Given the description of an element on the screen output the (x, y) to click on. 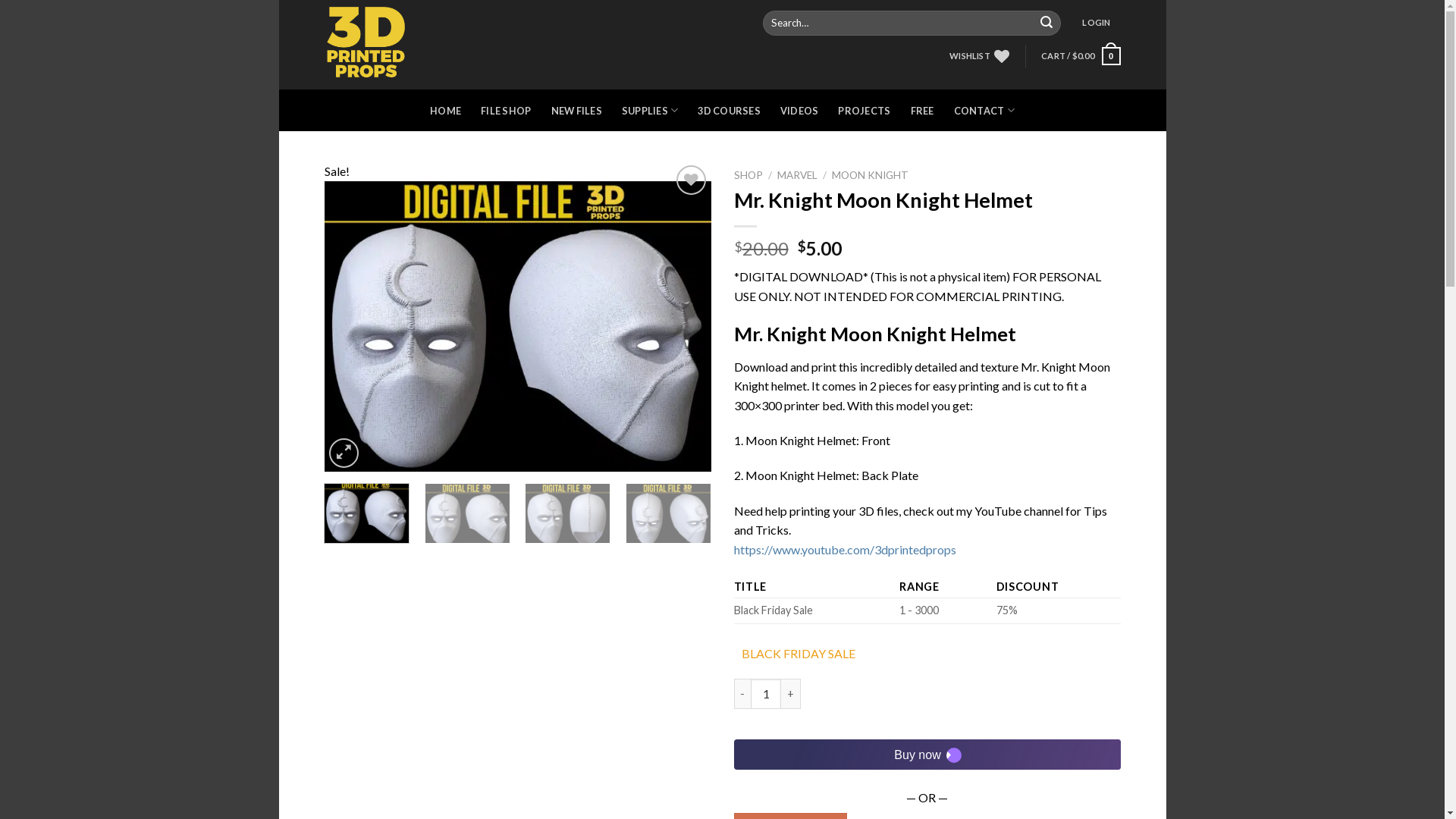
WISHLIST Element type: text (979, 55)
FREE Element type: text (922, 110)
VIDEOS Element type: text (799, 110)
SHOP Element type: text (748, 175)
3D PRINTED PROPS Element type: hover (387, 44)
Zoom Element type: hover (343, 452)
CONTACT Element type: text (983, 110)
LOGIN Element type: text (1096, 22)
3D COURSES Element type: text (728, 110)
MARVEL Element type: text (797, 175)
SUPPLIES Element type: text (649, 110)
FILE SHOP Element type: text (505, 110)
Search Element type: text (1046, 23)
MOON KNIGHT Element type: text (869, 175)
PROJECTS Element type: text (863, 110)
NEW FILES Element type: text (576, 110)
CART / $0.00
0 Element type: text (1080, 55)
HOME Element type: text (445, 110)
https://www.youtube.com/3dprintedprops Element type: text (845, 549)
Secure payment button frame Element type: hover (927, 754)
